Given the description of an element on the screen output the (x, y) to click on. 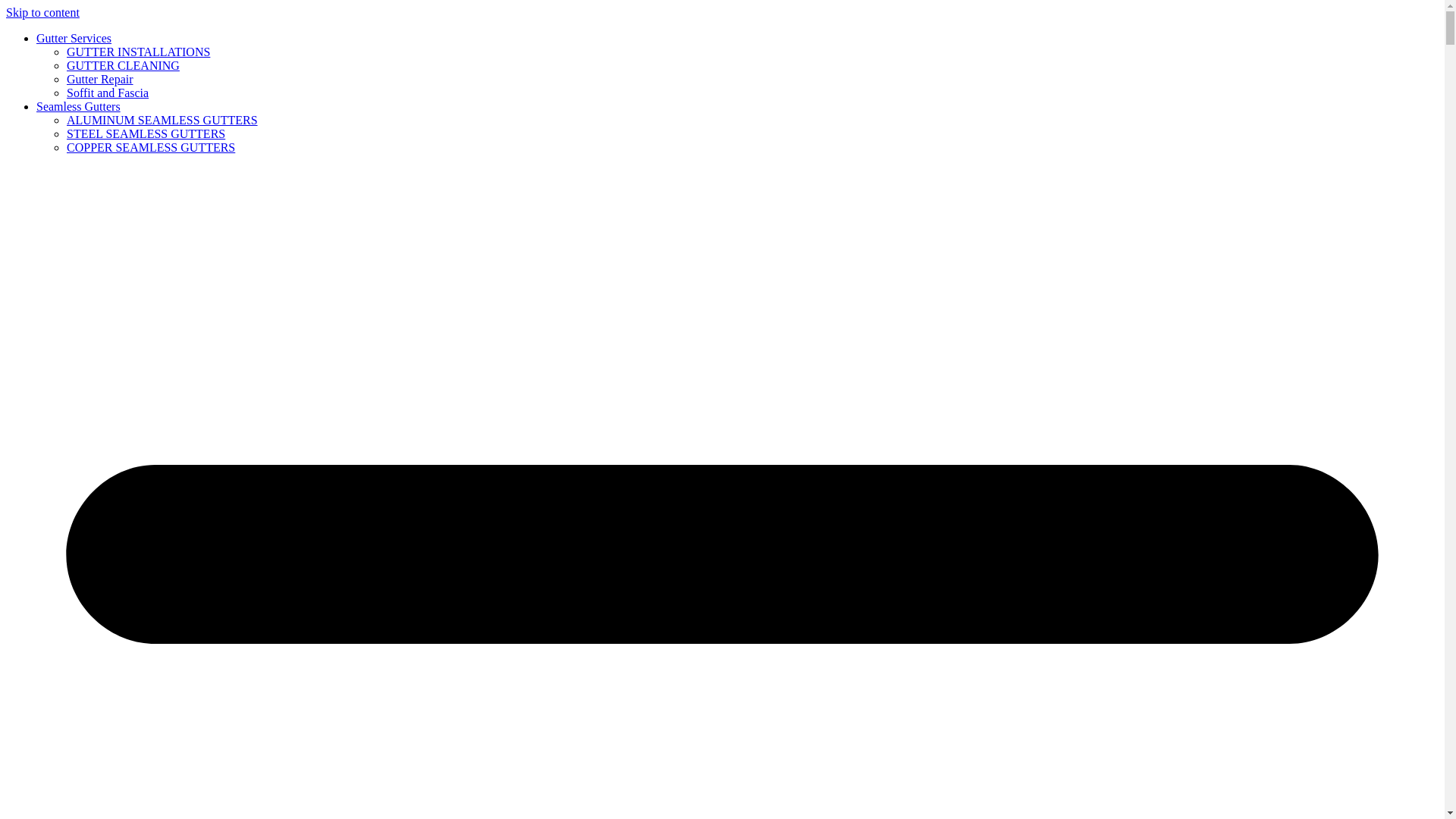
ALUMINUM SEAMLESS GUTTERS (161, 119)
GUTTER INSTALLATIONS (137, 51)
Seamless Gutters (78, 106)
Soffit and Fascia (107, 92)
Gutter Repair (99, 78)
Gutter Services (74, 38)
GUTTER CLEANING (122, 65)
STEEL SEAMLESS GUTTERS (145, 133)
COPPER SEAMLESS GUTTERS (150, 146)
Skip to content (42, 11)
